Given the description of an element on the screen output the (x, y) to click on. 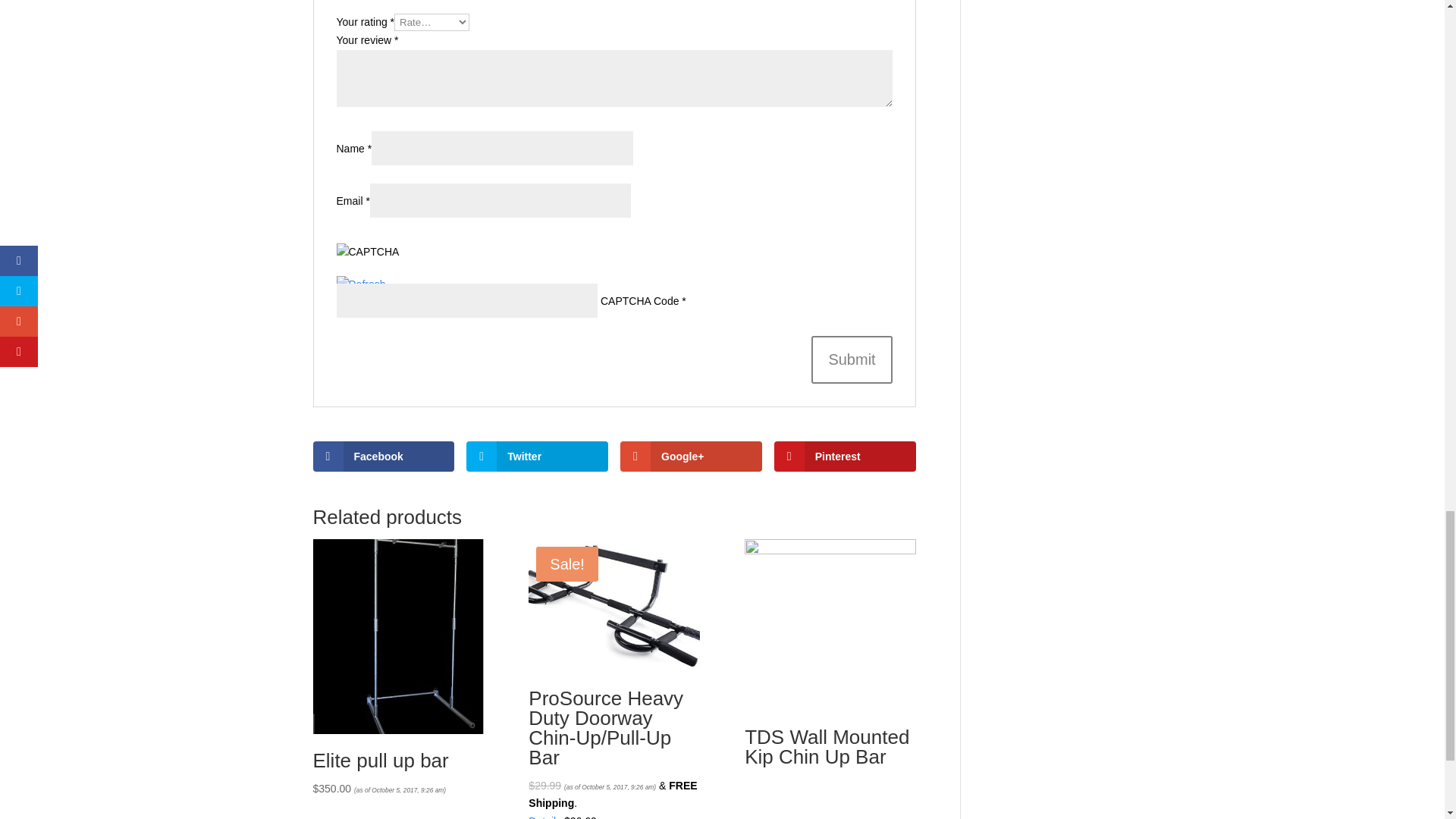
CAPTCHA (386, 259)
Refresh (360, 284)
Submit (850, 359)
